Given the description of an element on the screen output the (x, y) to click on. 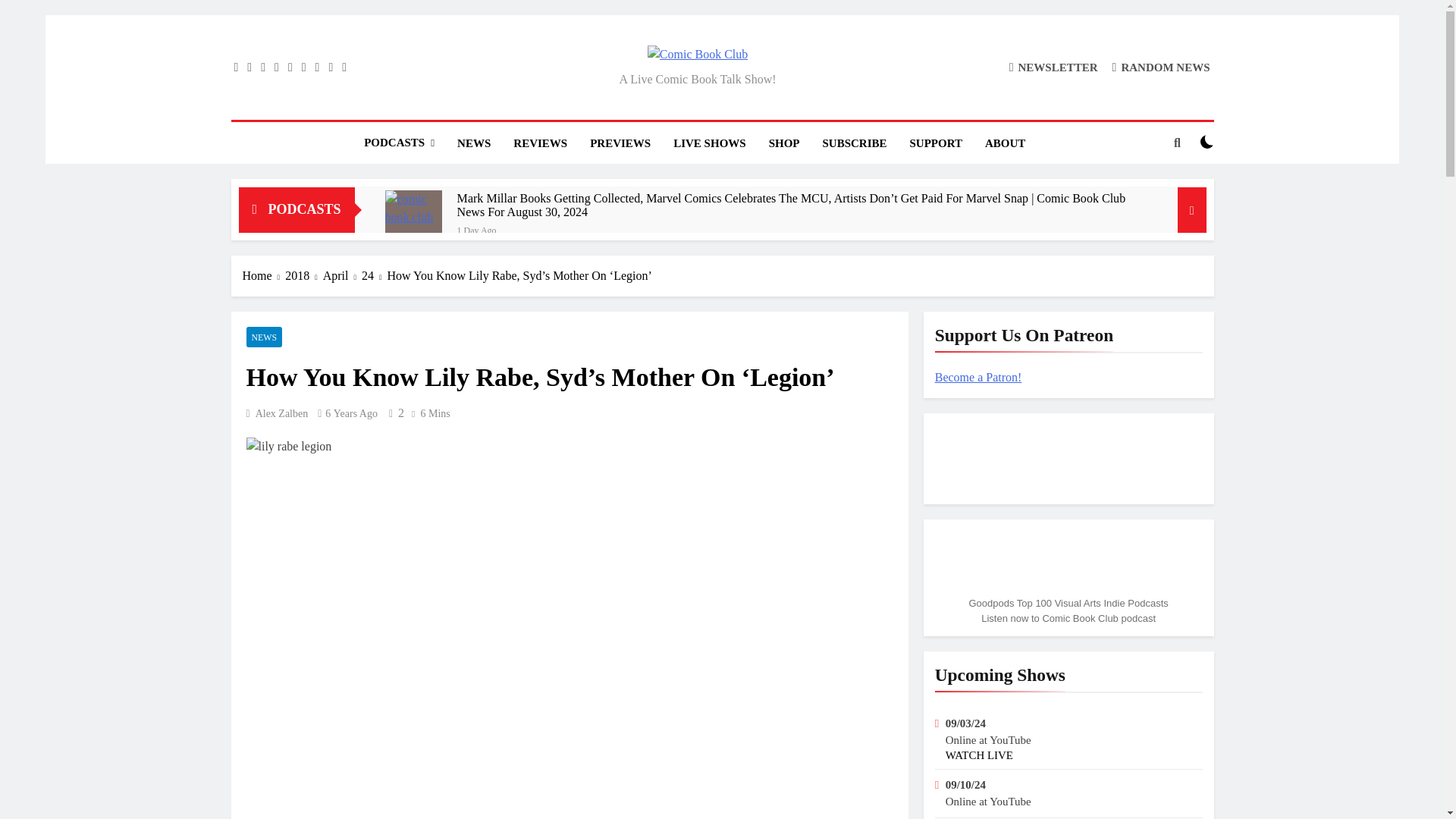
NEWSLETTER (1053, 66)
on (1206, 141)
REVIEWS (540, 142)
Comic Book Club (560, 80)
PODCASTS (398, 142)
NEWS (473, 142)
RANDOM NEWS (1160, 66)
